Given the description of an element on the screen output the (x, y) to click on. 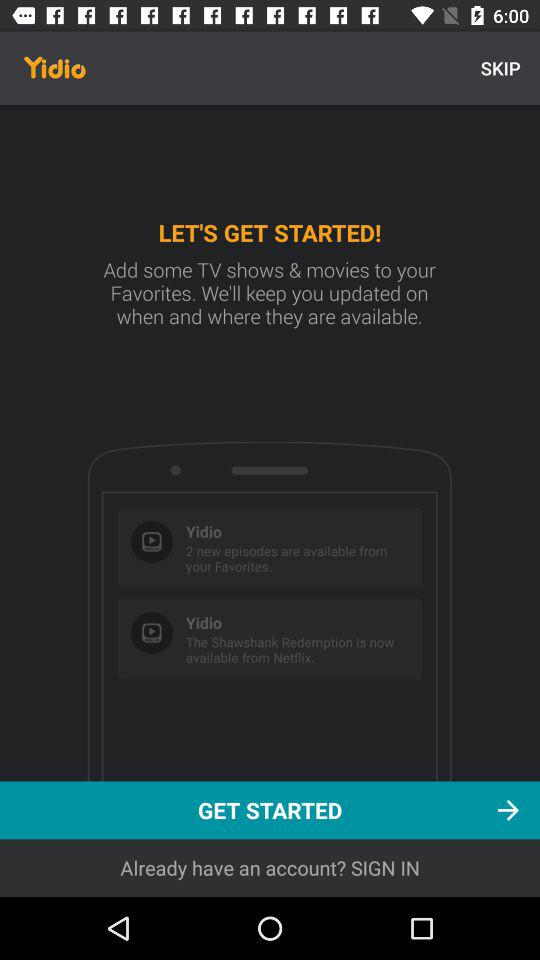
open icon below the get started (270, 867)
